Given the description of an element on the screen output the (x, y) to click on. 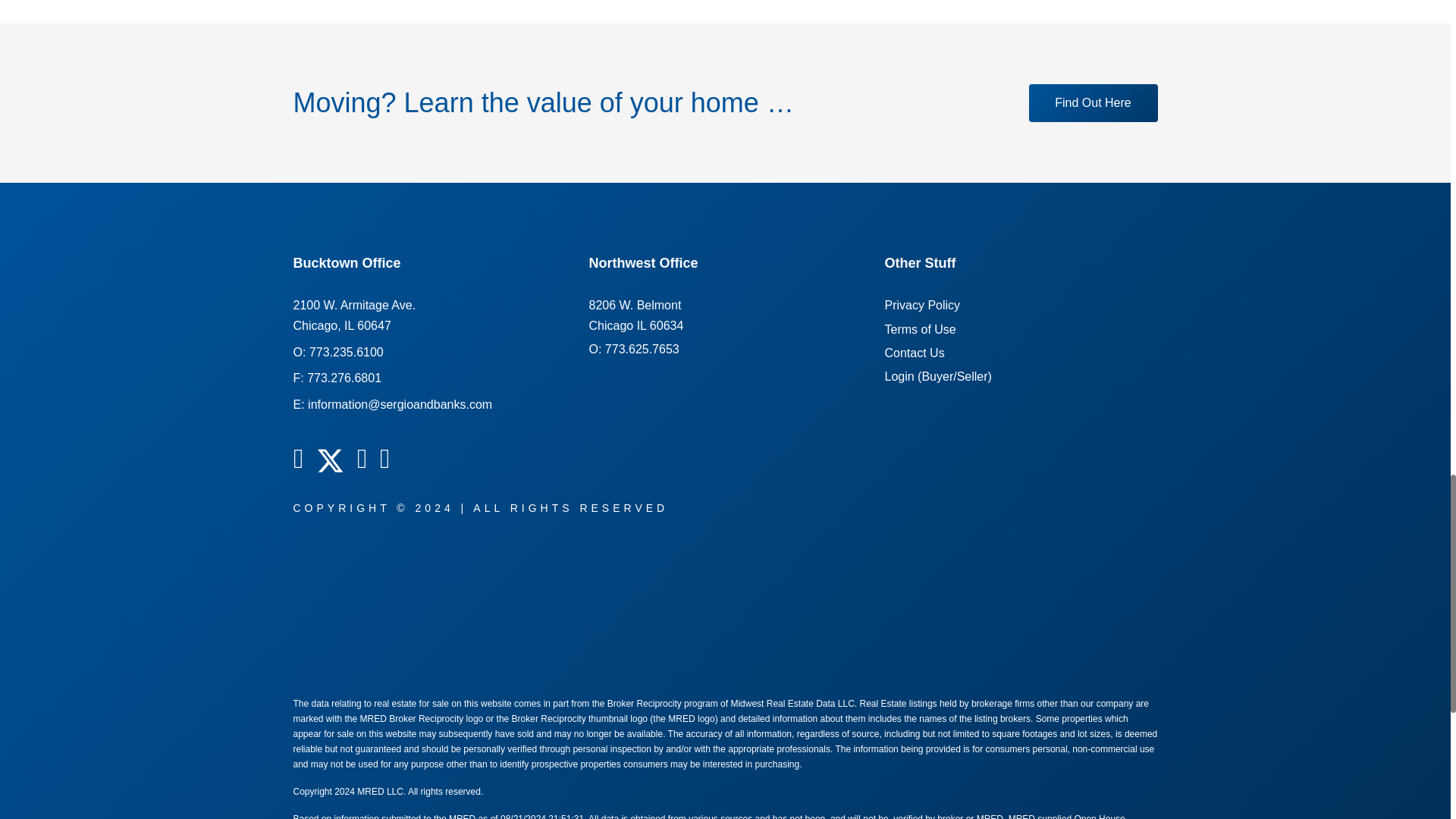
773.276.6801 (344, 377)
Terms of Use (919, 328)
Contact Us (635, 315)
Find Out Here (913, 352)
O: 773.625.7653 (1092, 103)
773.235.6100 (633, 349)
Privacy Policy (346, 351)
